Given the description of an element on the screen output the (x, y) to click on. 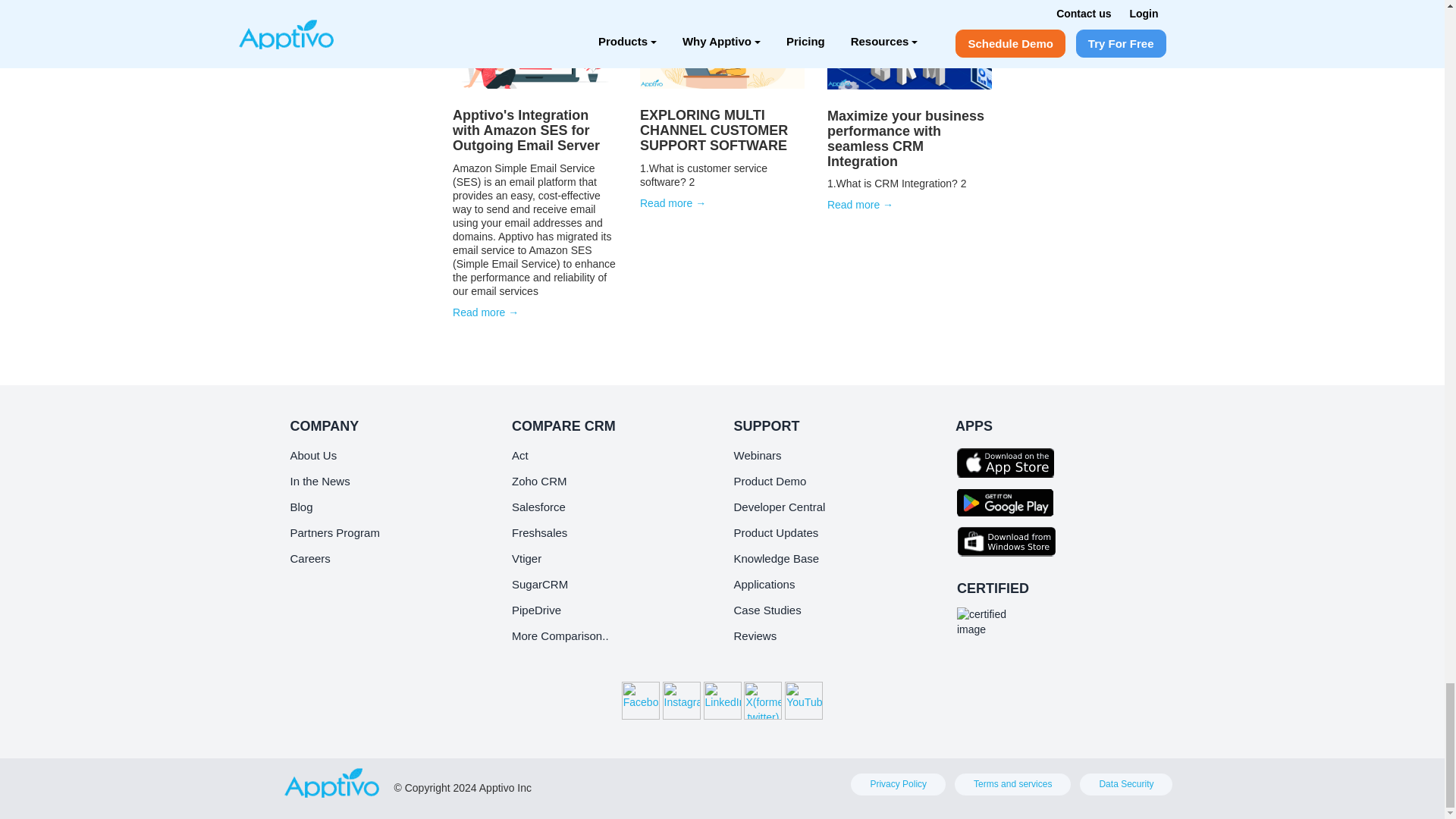
YouTube (803, 700)
LinkedIn (722, 700)
In the News (319, 481)
Facebook (640, 700)
Instagram (681, 700)
GET IT ON Google Play (1009, 502)
Download on the AppStore (1009, 462)
Download on the Windows Store (1009, 541)
